Given the description of an element on the screen output the (x, y) to click on. 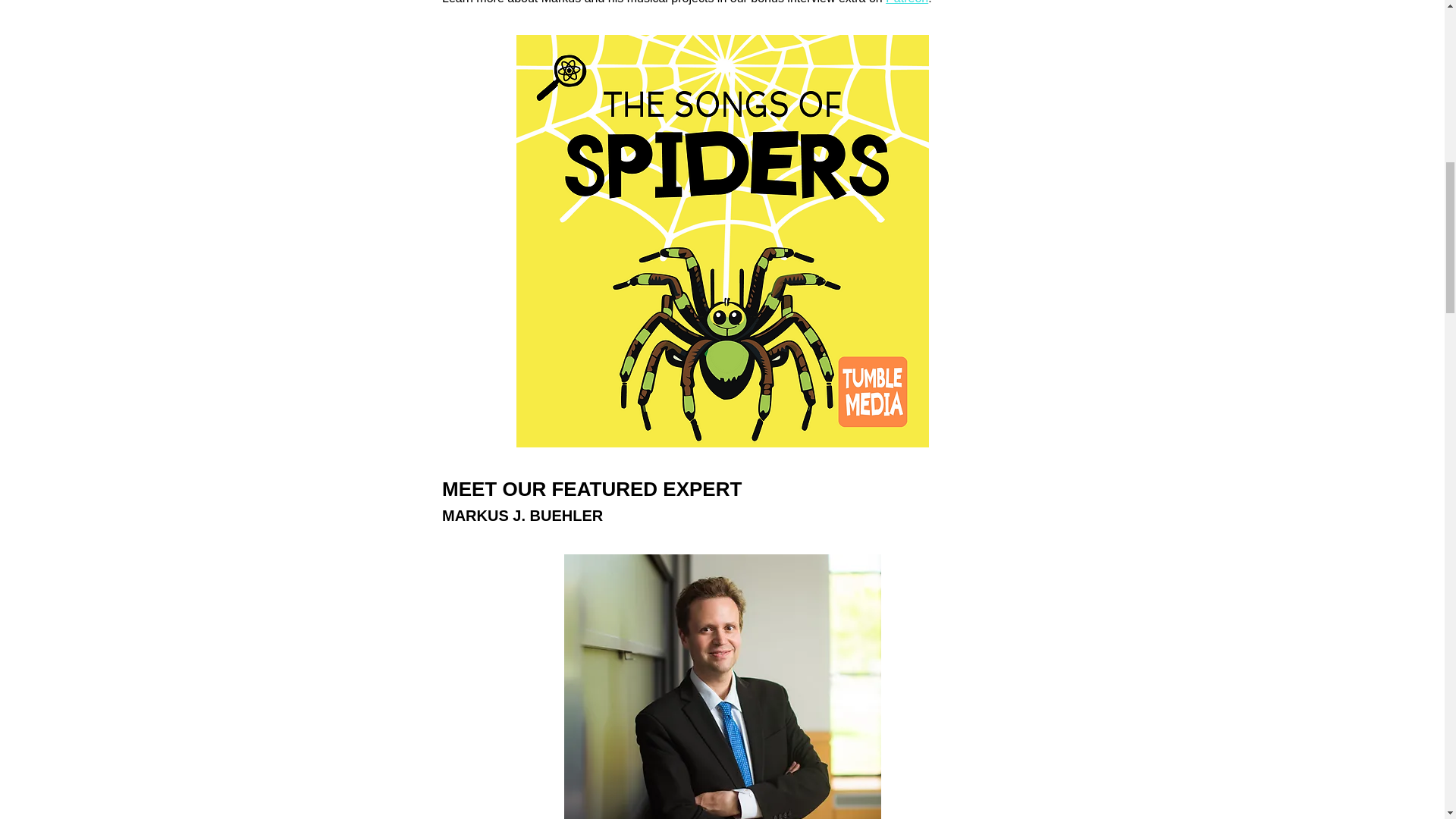
Patreon (906, 2)
